Given the description of an element on the screen output the (x, y) to click on. 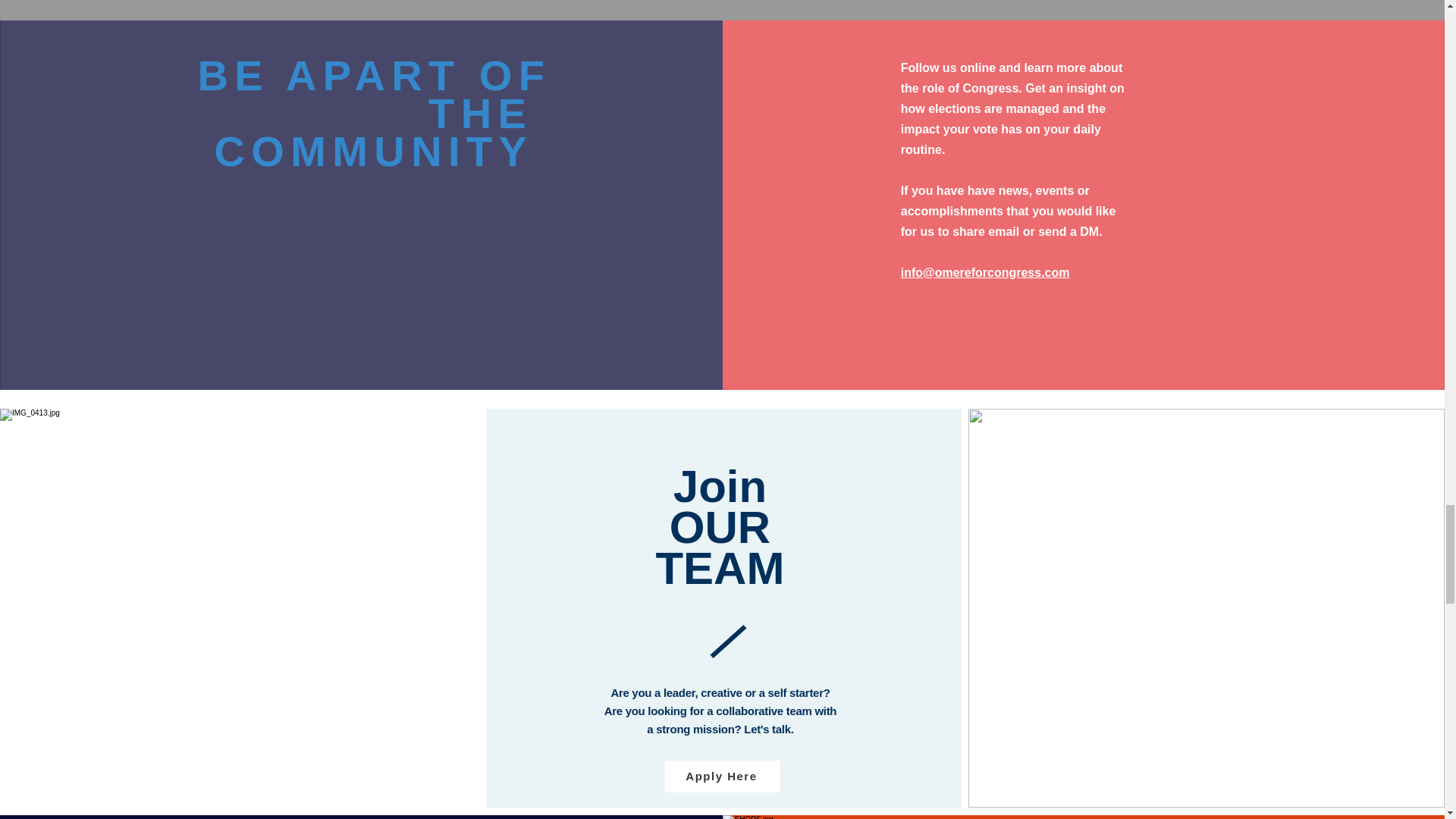
Apply Here (722, 776)
